Given the description of an element on the screen output the (x, y) to click on. 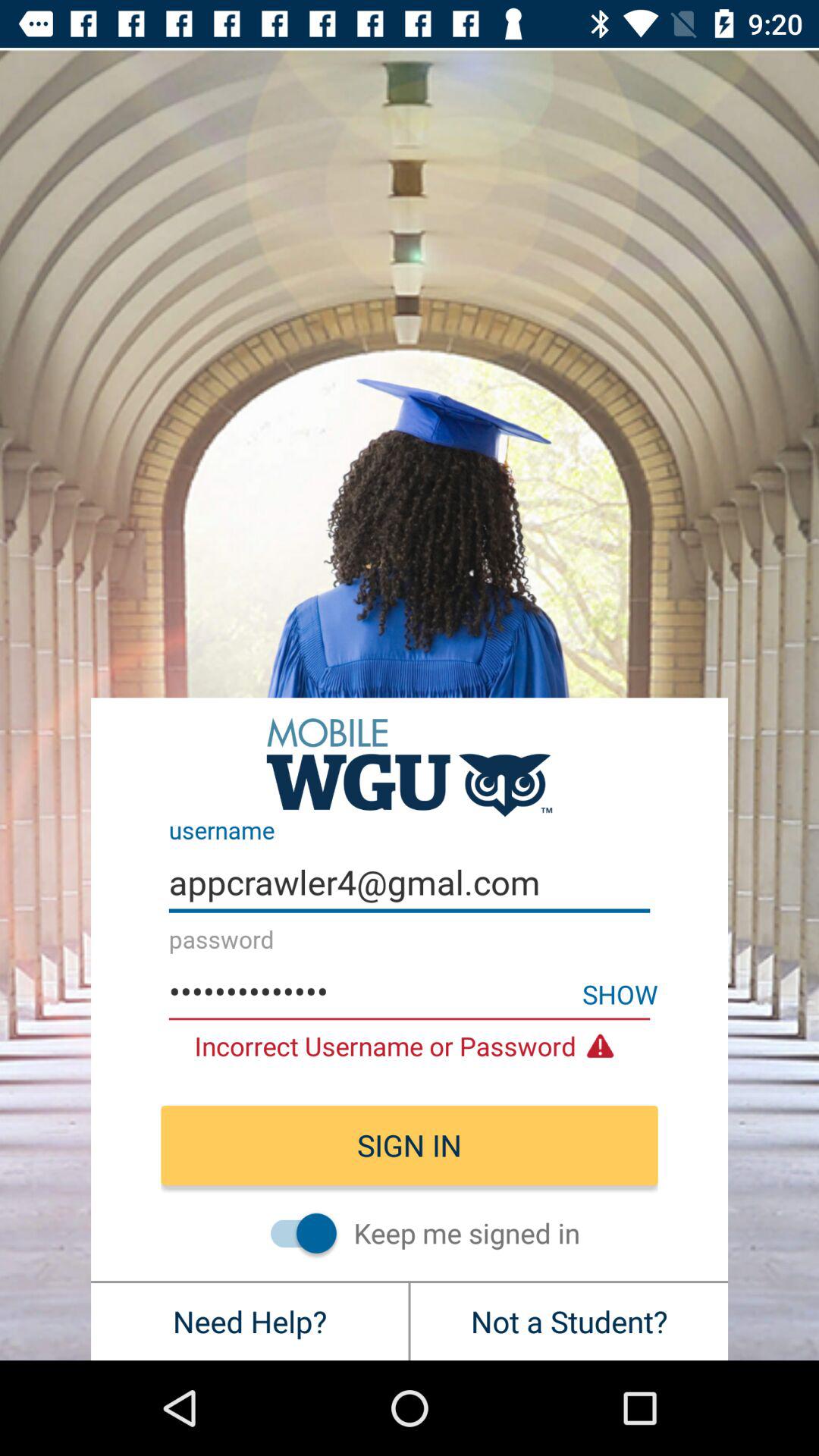
choose the appcrawler3116 icon (409, 991)
